Given the description of an element on the screen output the (x, y) to click on. 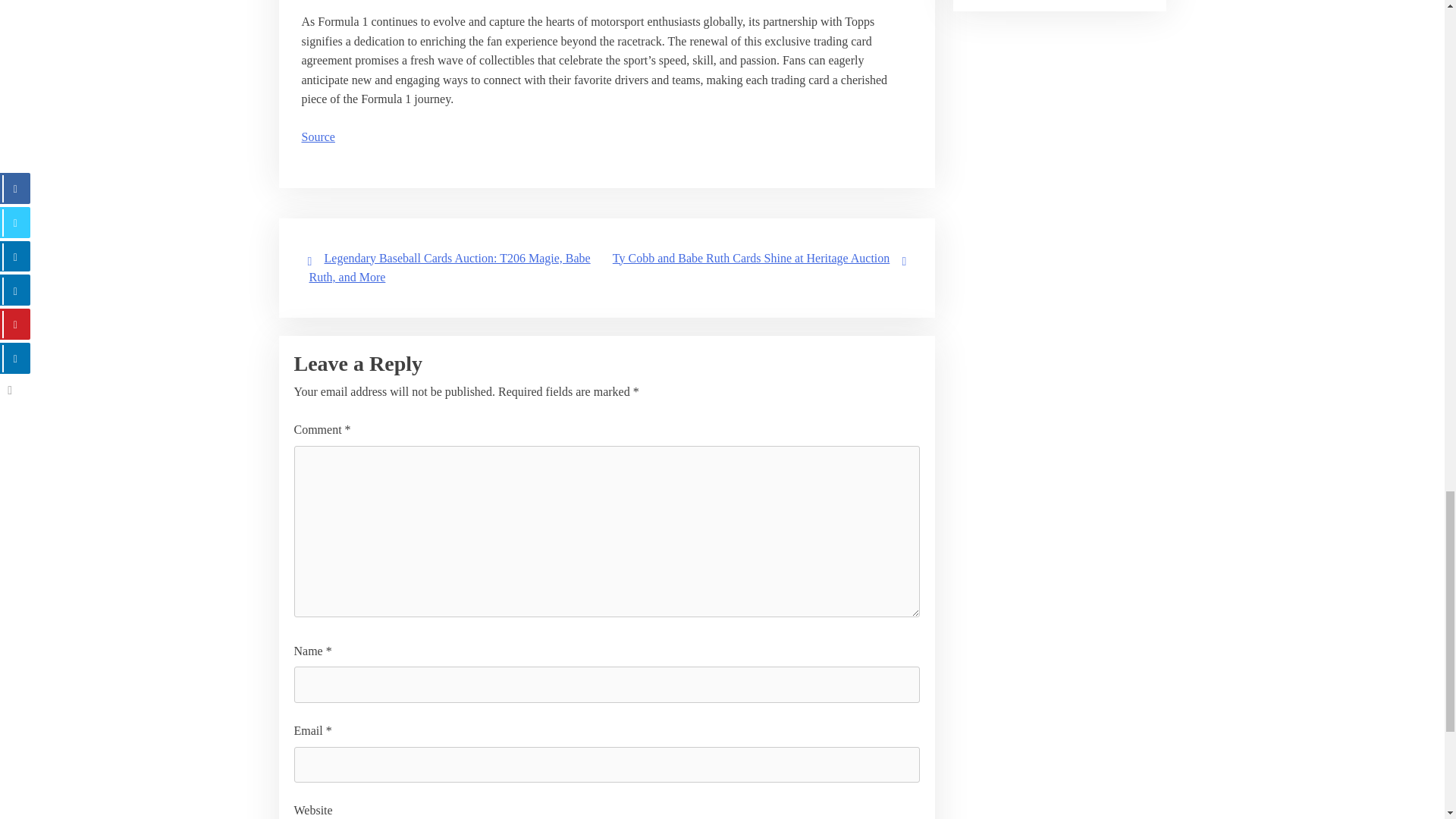
Ty Cobb and Babe Ruth Cards Shine at Heritage Auction (750, 257)
Source (317, 136)
